Given the description of an element on the screen output the (x, y) to click on. 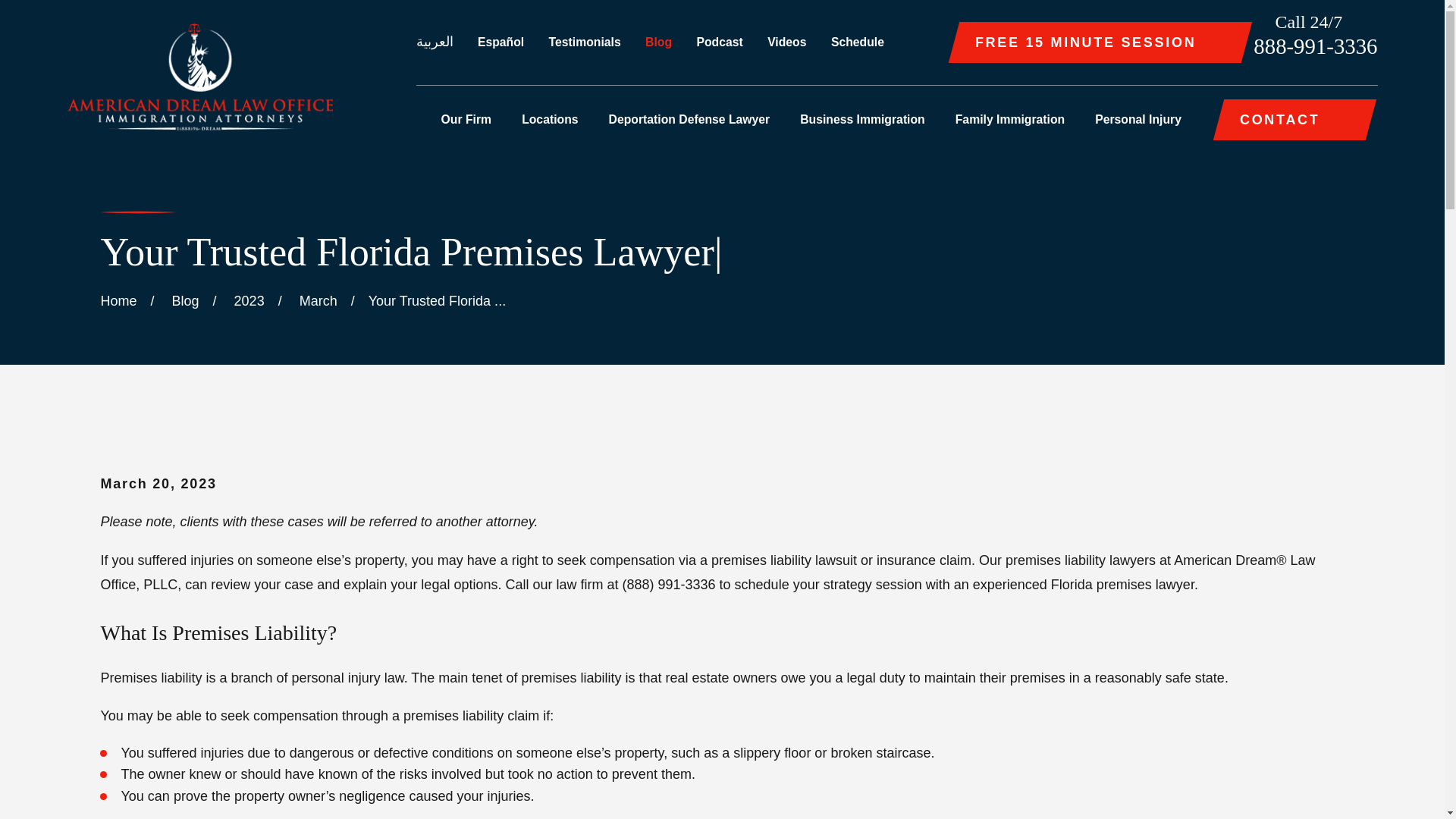
Our Firm (466, 119)
Home (198, 76)
Locations (549, 119)
Testimonials (584, 42)
Podcast (718, 42)
Go Home (118, 300)
FREE 15 MINUTE SESSION (1099, 42)
Videos (786, 42)
Deportation Defense Lawyer (689, 119)
Schedule (857, 42)
Blog (658, 42)
888-991-3336 (1315, 46)
